Given the description of an element on the screen output the (x, y) to click on. 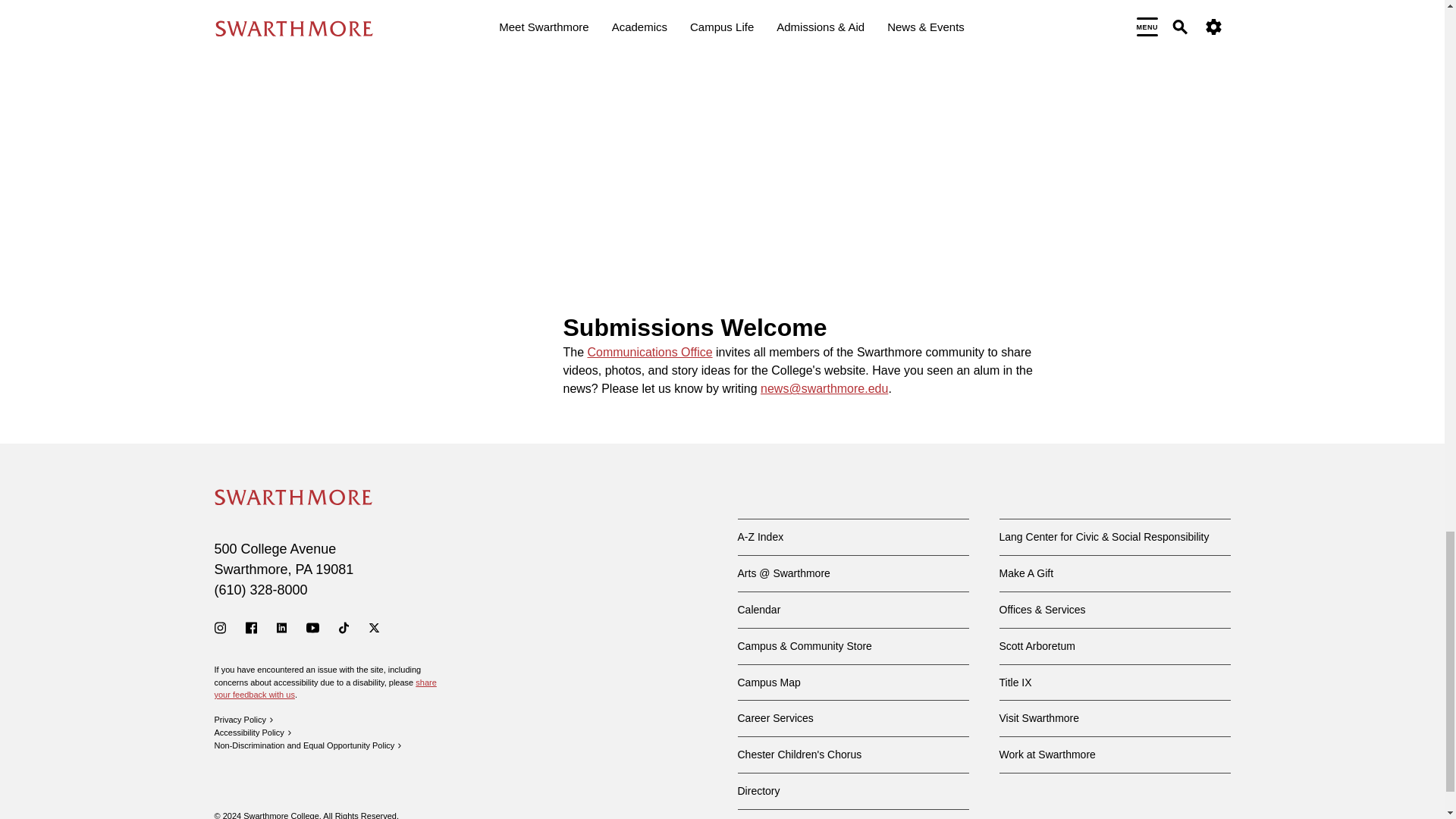
Facebook (251, 627)
YouTube (311, 627)
Swarthmore College - Home (292, 497)
Instagram (219, 627)
